Given the description of an element on the screen output the (x, y) to click on. 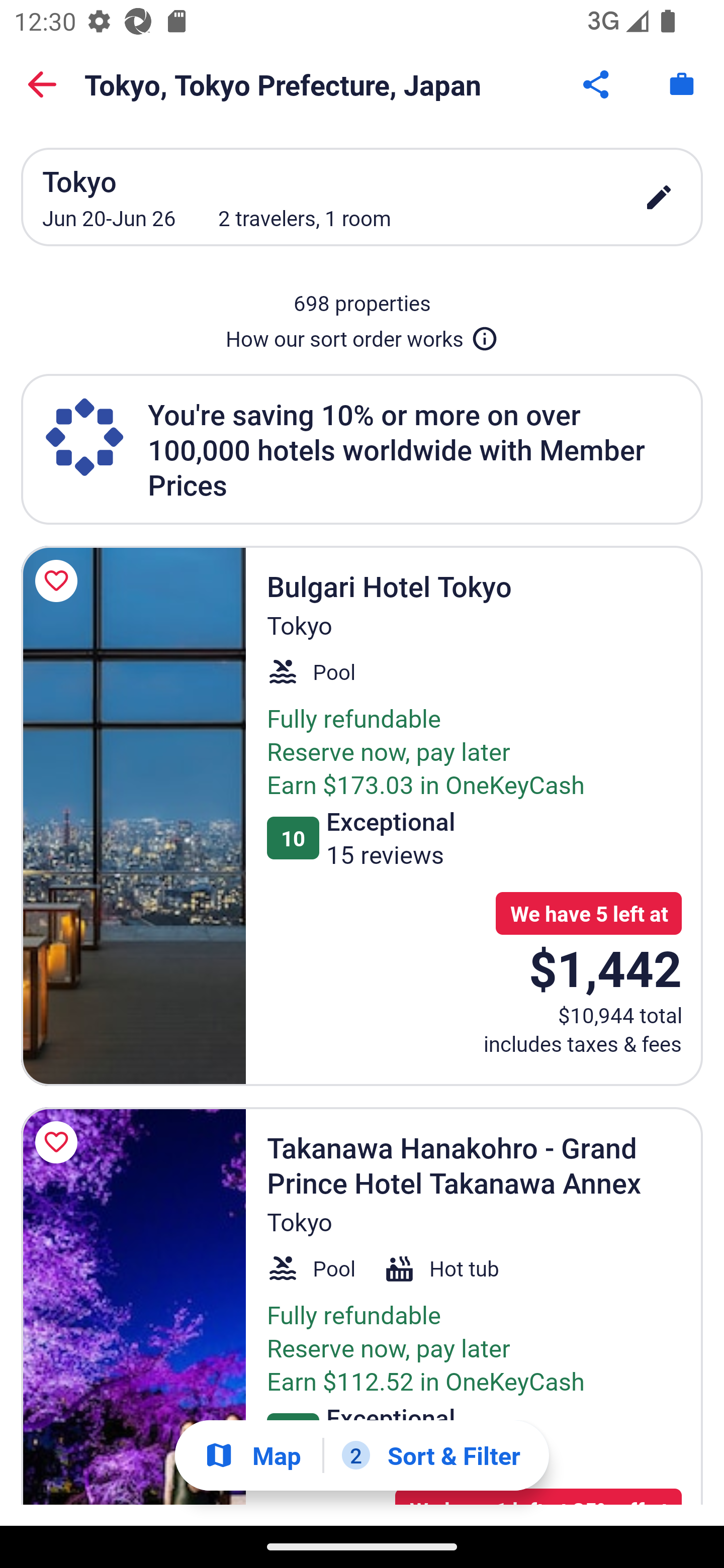
Back (42, 84)
Share Button (597, 84)
Trips. Button (681, 84)
Tokyo Jun 20-Jun 26 2 travelers, 1 room edit (361, 196)
How our sort order works (361, 334)
Save Bulgari Hotel Tokyo to a trip (59, 580)
Bulgari Hotel Tokyo (133, 815)
2 Sort & Filter 2 Filters applied. Filters Button (430, 1455)
Show map Map Show map Button (252, 1455)
